Given the description of an element on the screen output the (x, y) to click on. 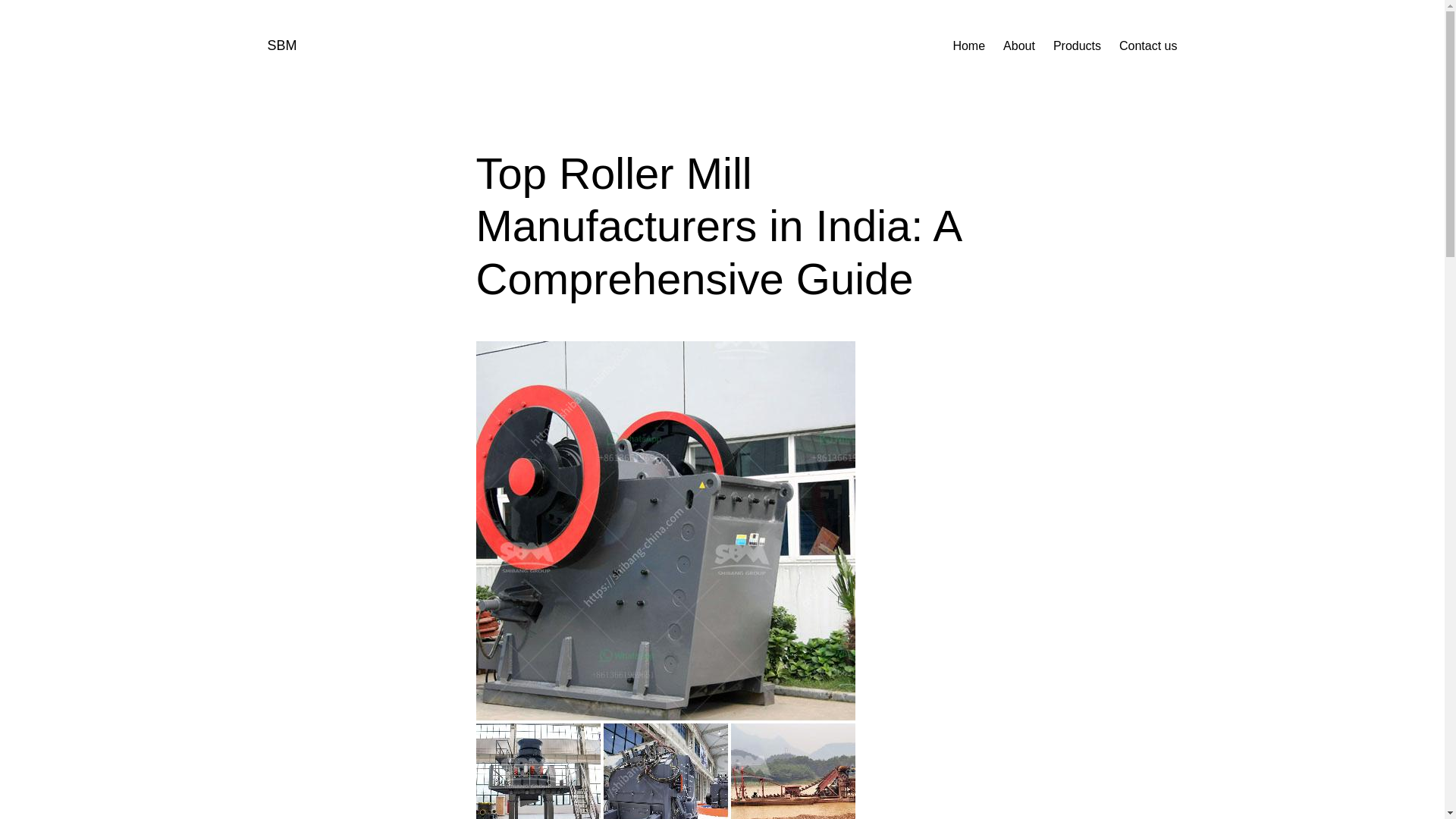
SBM (281, 45)
Contact us (1147, 46)
Home (968, 46)
About (1019, 46)
Products (1076, 46)
